Given the description of an element on the screen output the (x, y) to click on. 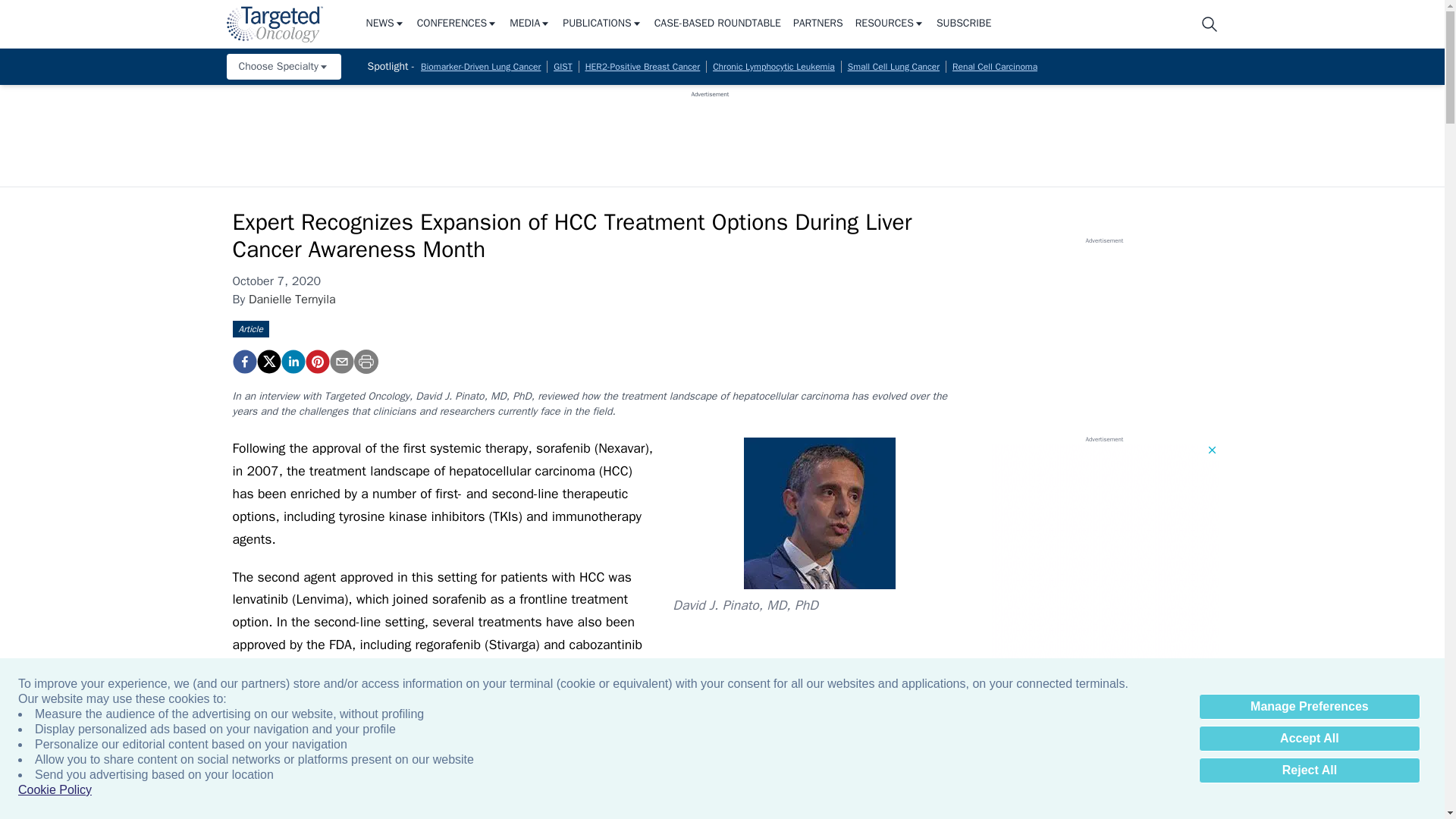
Cookie Policy (54, 789)
NEWS (384, 23)
3rd party ad content (709, 132)
Accept All (1309, 738)
CONFERENCES (456, 23)
MEDIA (529, 23)
Manage Preferences (1309, 706)
PUBLICATIONS (602, 23)
